Given the description of an element on the screen output the (x, y) to click on. 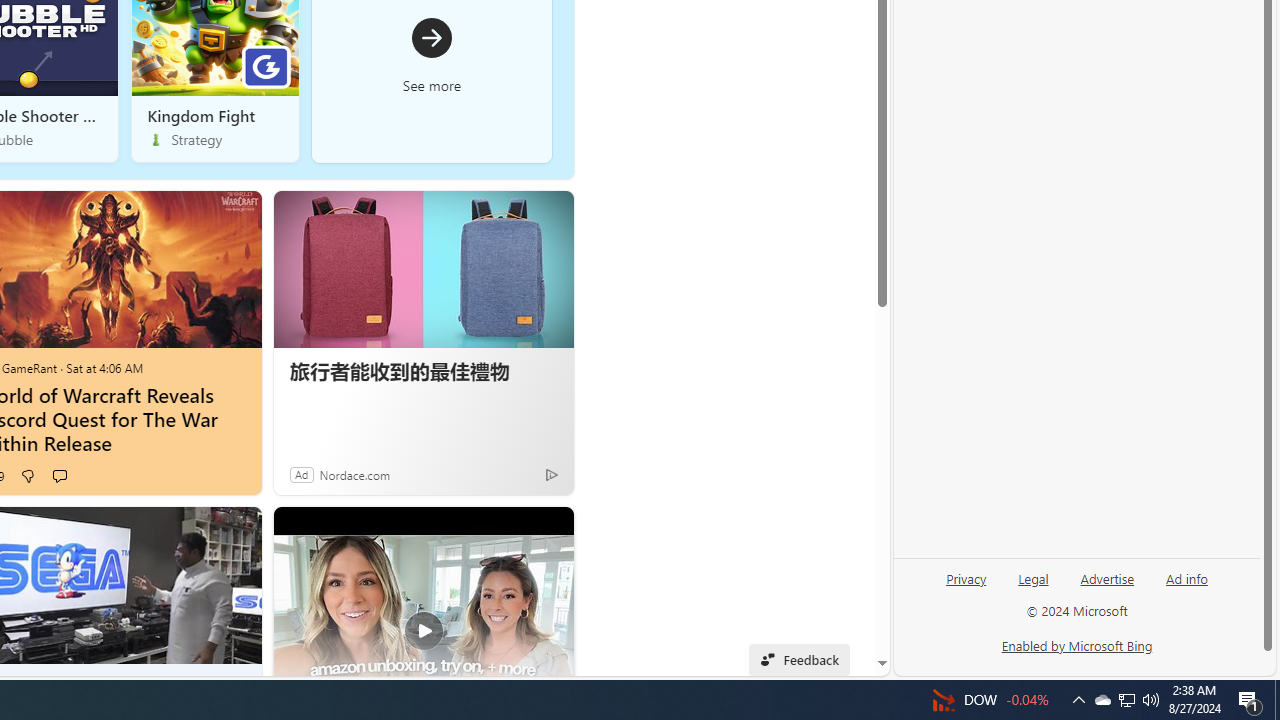
Nordace.com (354, 474)
Hide this story (543, 536)
